Given the description of an element on the screen output the (x, y) to click on. 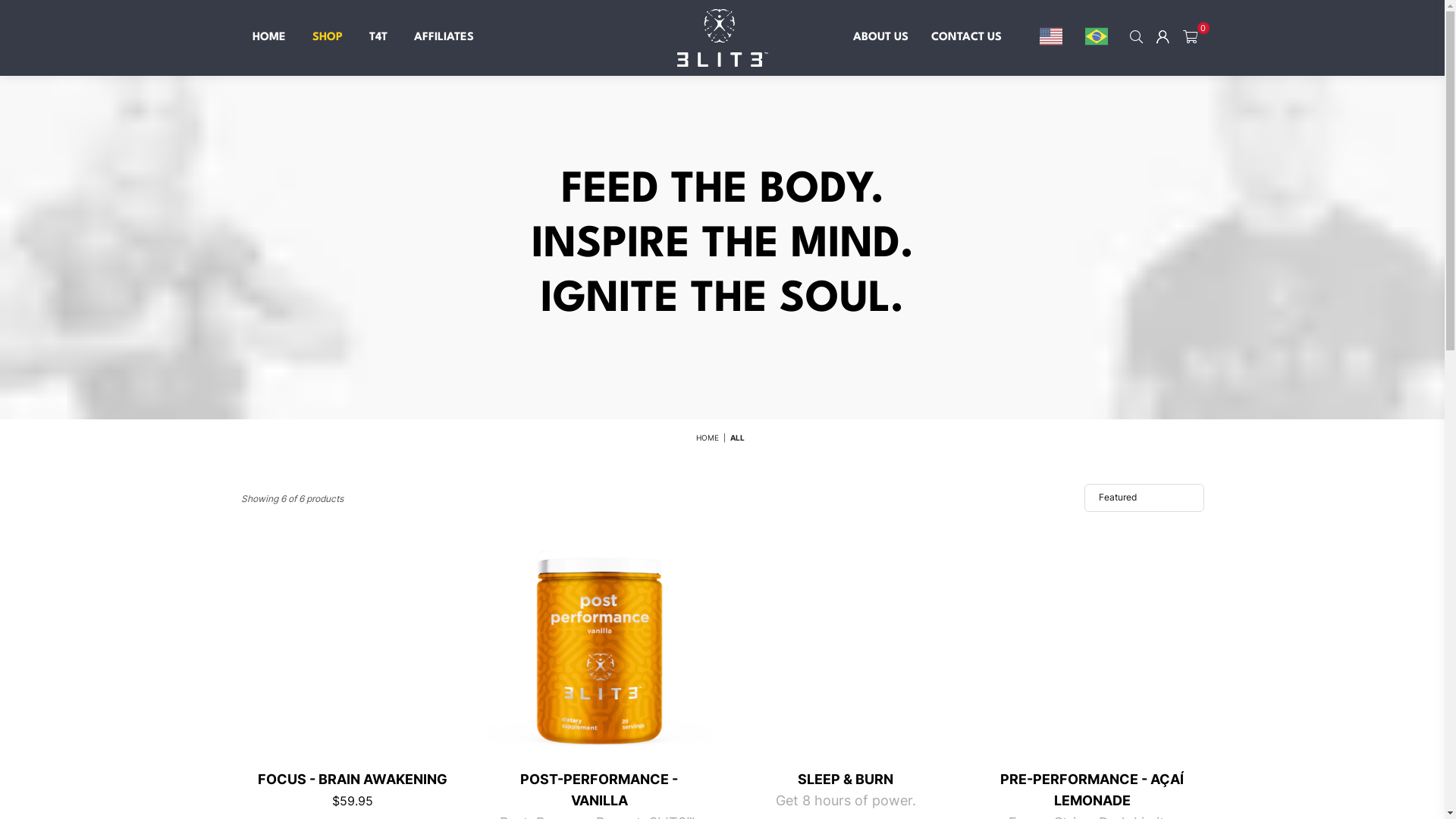
POST-PERFORMANCE - VANILLA Element type: text (598, 790)
SEARCH Element type: hover (1135, 37)
SHOP Element type: text (326, 37)
Logout Element type: hover (1162, 37)
0 Element type: text (1189, 37)
HOME Element type: text (269, 37)
HOME Element type: text (708, 437)
CONTACT US Element type: text (965, 37)
SLEEP & BURN Element type: text (845, 779)
3LIT3 SUPPLEMENTS Element type: text (722, 37)
FOCUS - BRAIN AWAKENING Element type: text (352, 779)
T4T Element type: text (377, 37)
ABOUT US Element type: text (880, 37)
AFFILIATES Element type: text (442, 37)
